Given the description of an element on the screen output the (x, y) to click on. 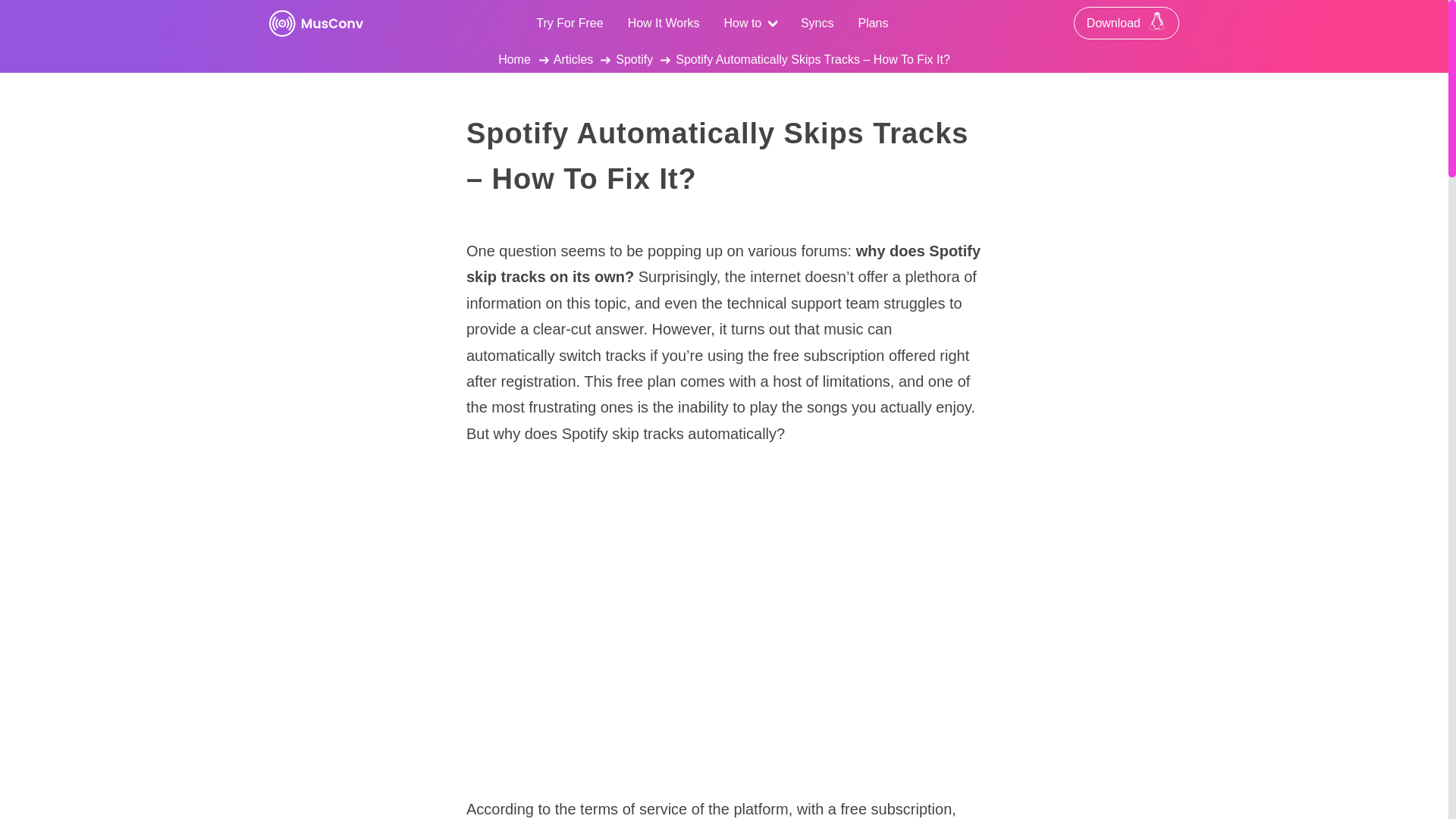
Plans (872, 23)
How It Works (663, 23)
Download (1126, 22)
Spotify (633, 58)
Articles (572, 58)
Home (513, 58)
Go to the Spotify category archives. (633, 58)
Go to Home. (513, 58)
How to (749, 23)
